Given the description of an element on the screen output the (x, y) to click on. 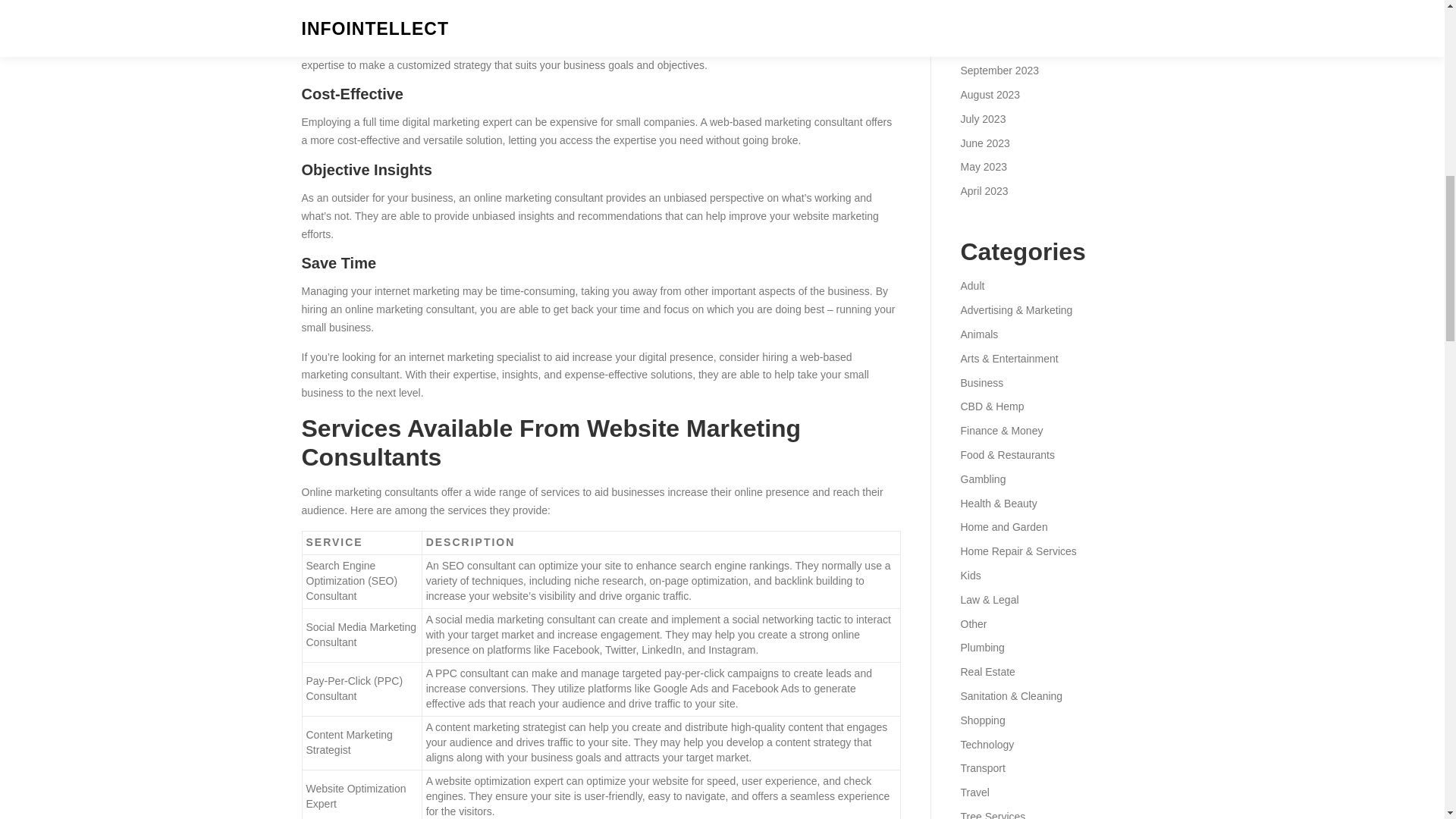
Business (981, 382)
April 2023 (983, 191)
July 2023 (982, 119)
June 2023 (984, 143)
Animals (978, 334)
May 2023 (982, 166)
December 2023 (997, 2)
October 2023 (992, 46)
September 2023 (999, 70)
November 2023 (997, 22)
